Given the description of an element on the screen output the (x, y) to click on. 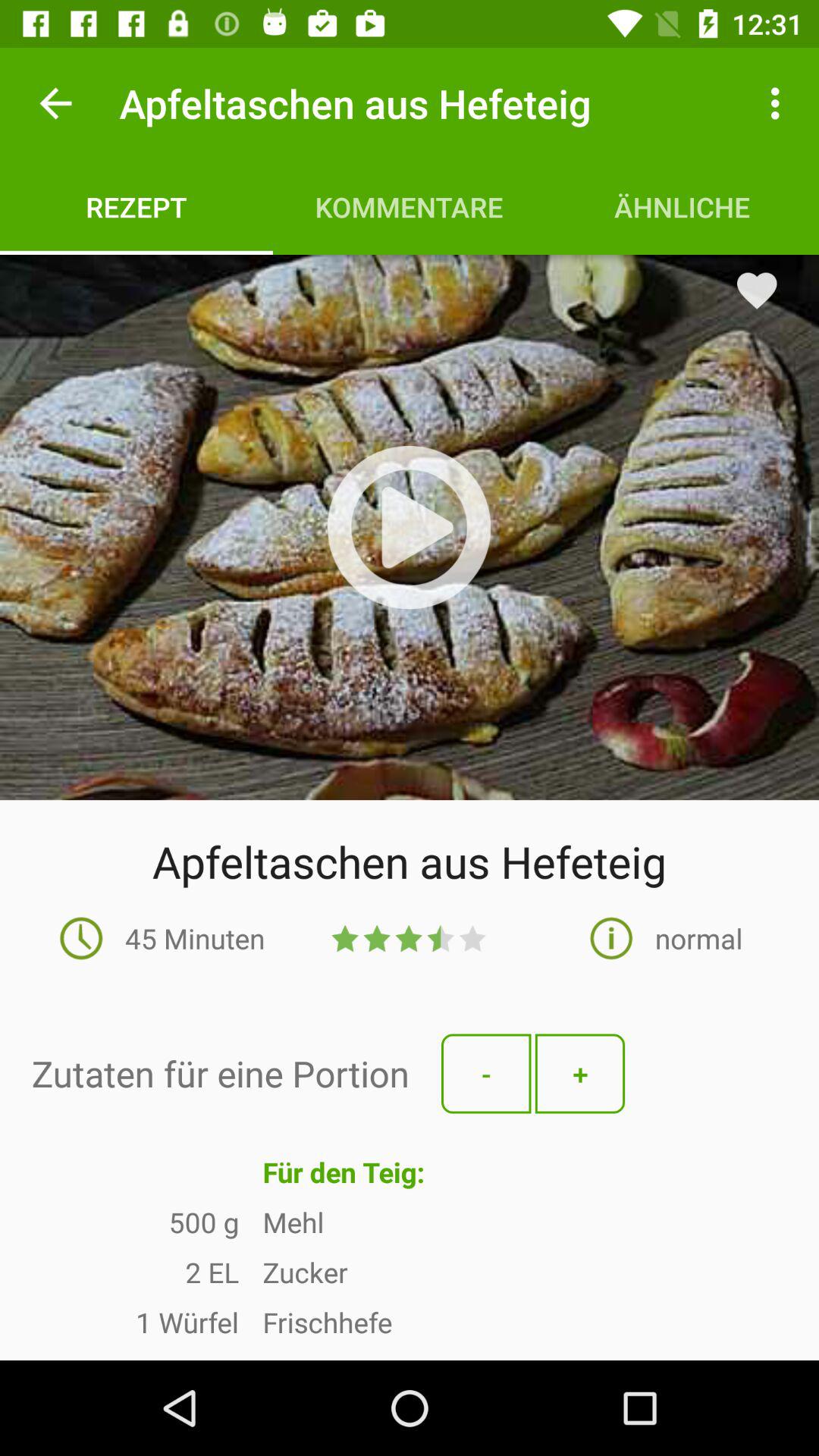
paly button (408, 527)
